Given the description of an element on the screen output the (x, y) to click on. 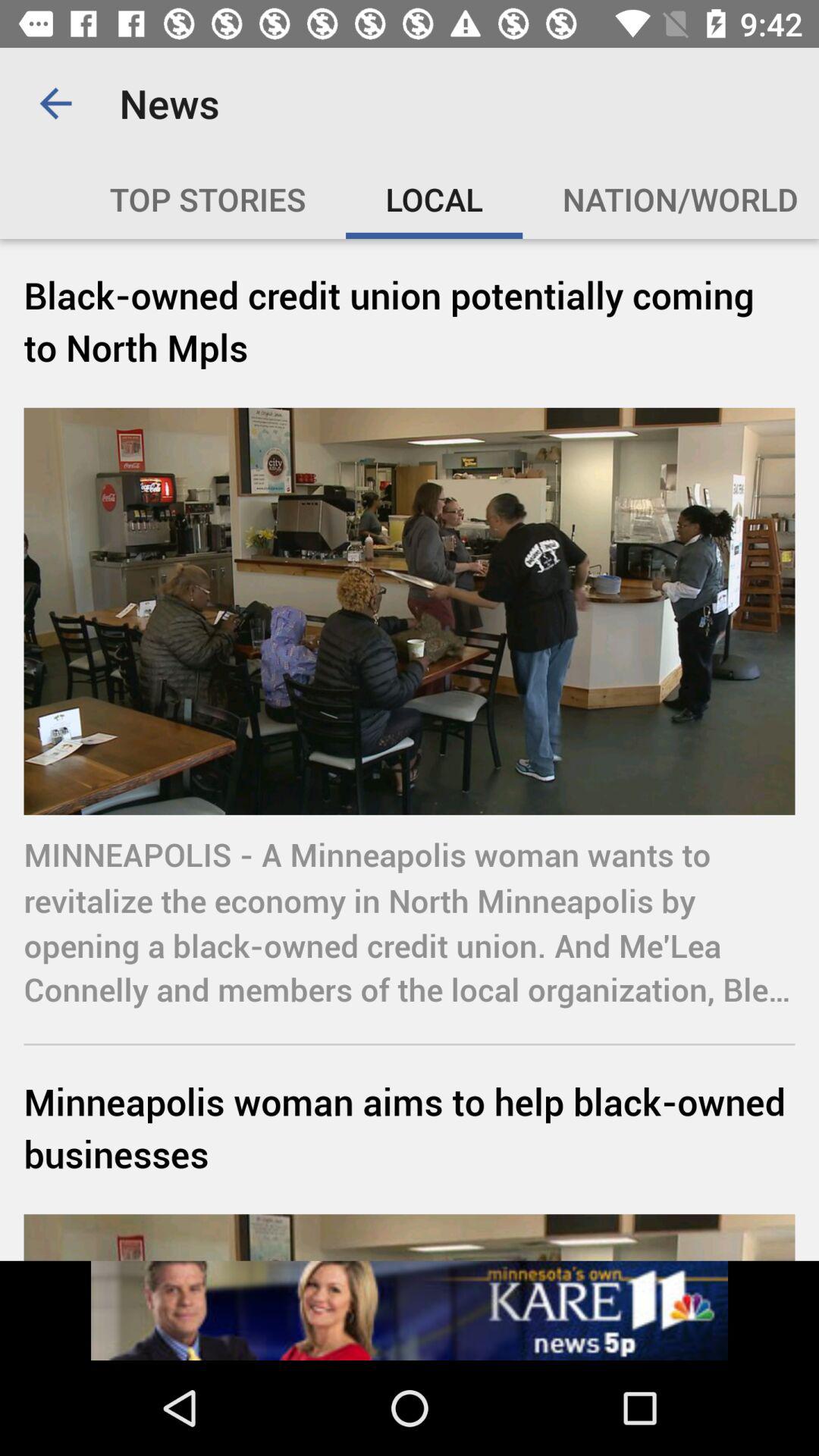
navigate to other page (409, 1310)
